Given the description of an element on the screen output the (x, y) to click on. 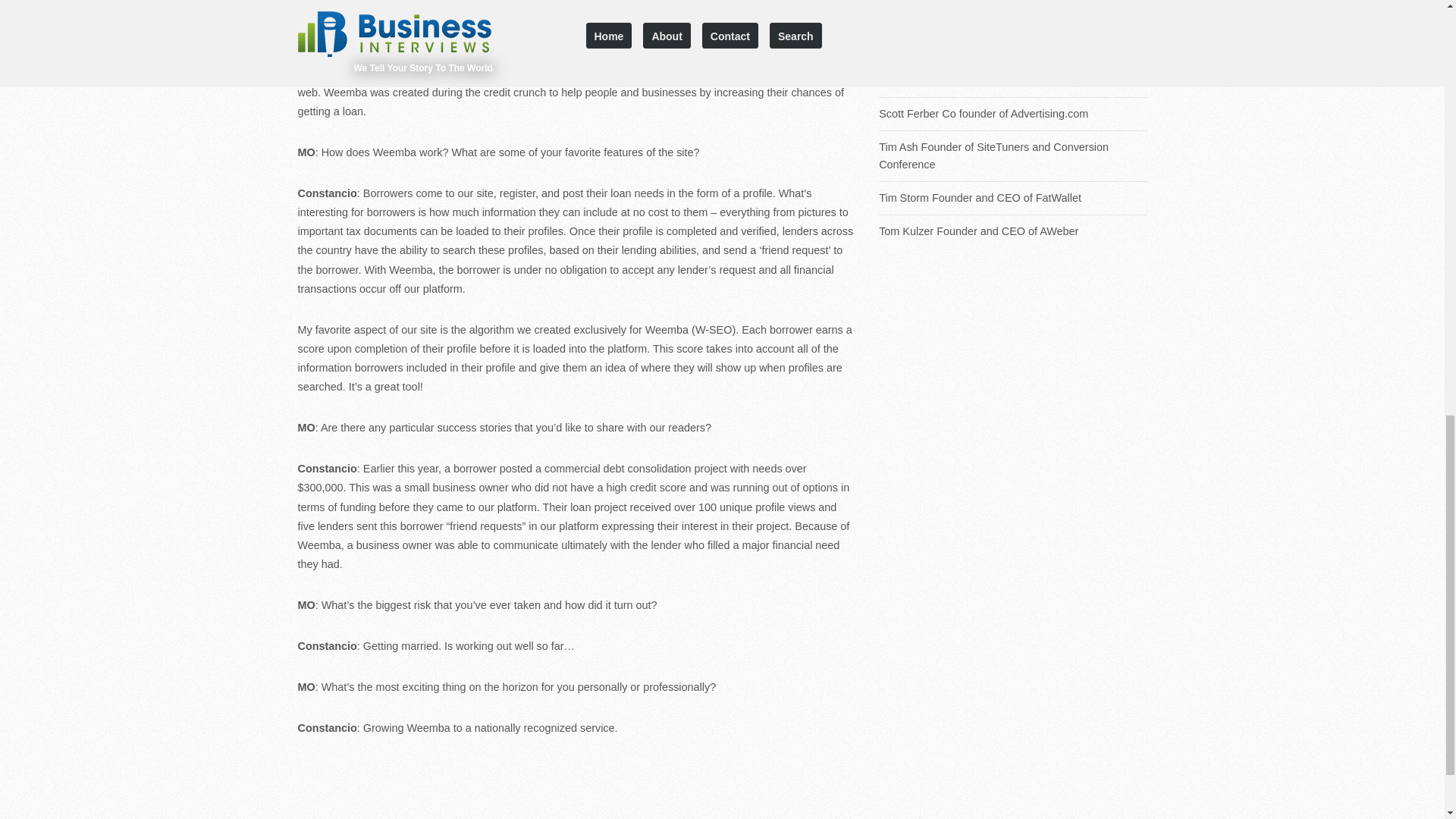
Scott Ferber Co founder of Advertising.com (1013, 113)
Neil Patel co founder of KISSMetrics and CrazyEgg (1013, 13)
Tim Storm Founder and CEO of FatWallet (1013, 198)
Ryan Holmes CEO of HootSuite (1013, 80)
Tim Ash Founder of SiteTuners and Conversion Conference (1013, 155)
Tom Kulzer Founder and CEO of AWeber (1013, 231)
